Given the description of an element on the screen output the (x, y) to click on. 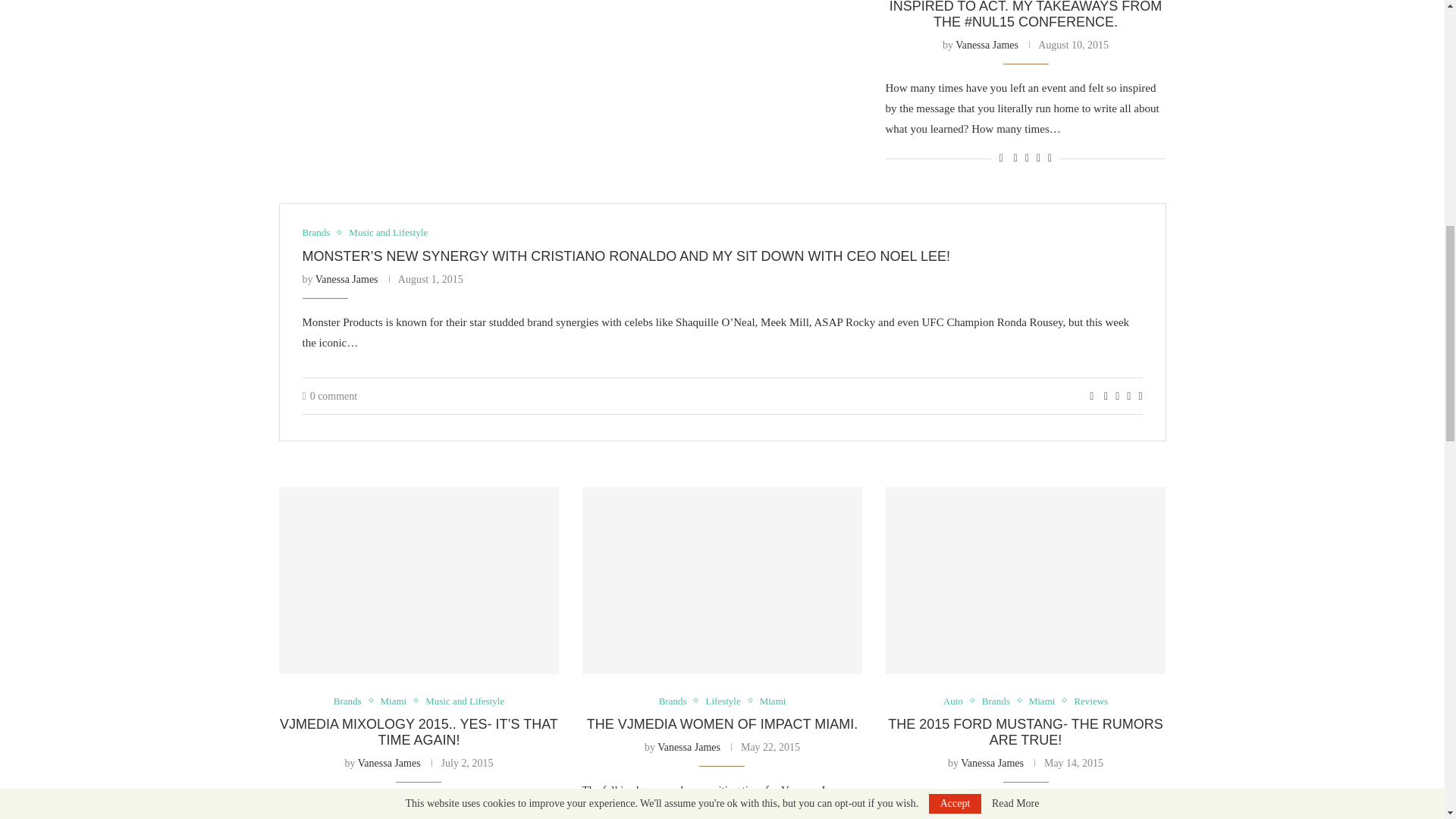
The 2015 Ford Mustang- the rumors are true! (1025, 580)
Like (1000, 158)
The VJMedia Women of Impact Miami. (722, 580)
Like (1091, 396)
